Given the description of an element on the screen output the (x, y) to click on. 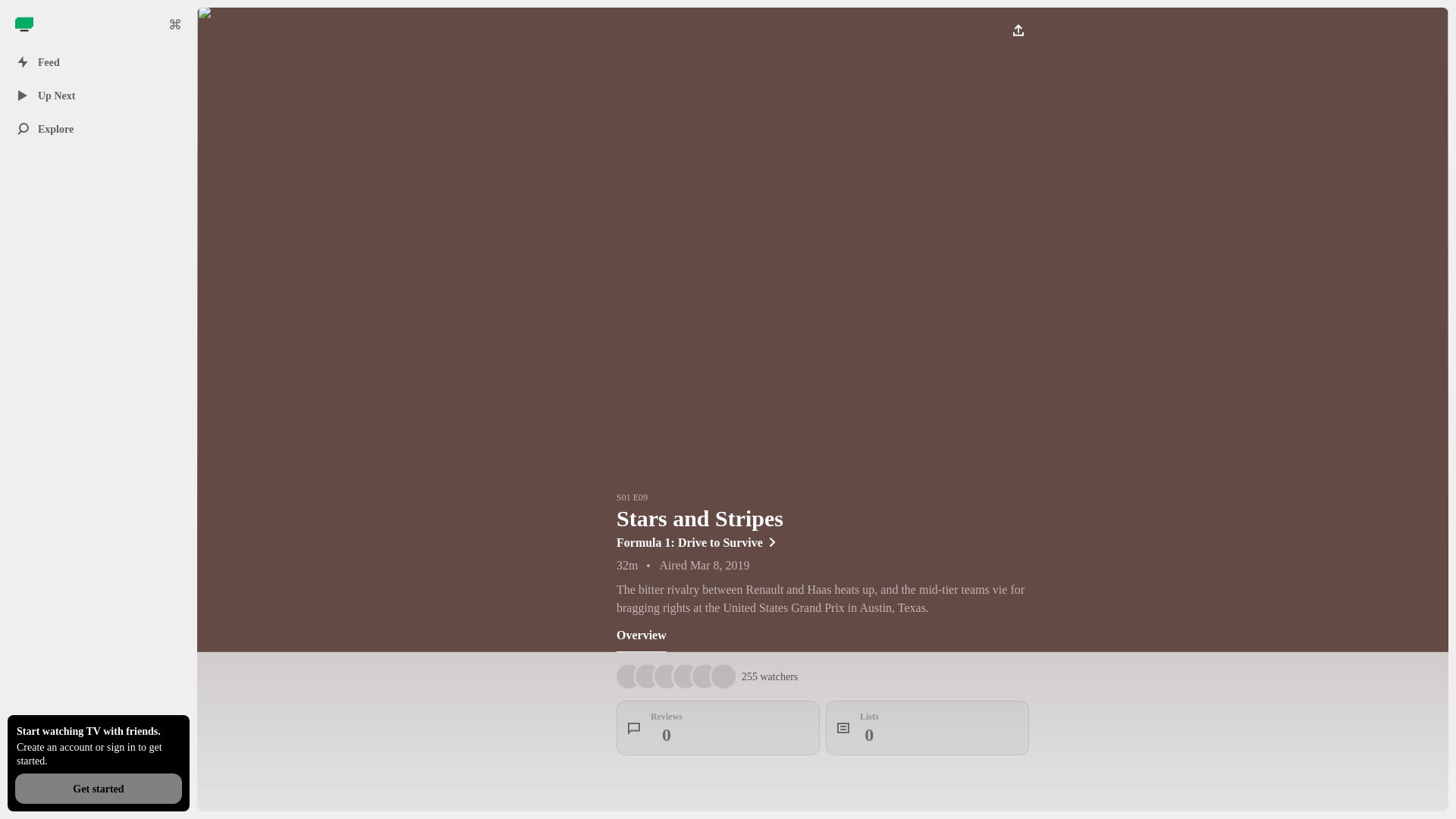
Overview (927, 728)
Formula 1: Drive to Survive (640, 635)
Marathon (822, 541)
Explore (23, 24)
Up Next (717, 728)
255 watchers (98, 128)
Get started (98, 95)
Feed (769, 676)
